Given the description of an element on the screen output the (x, y) to click on. 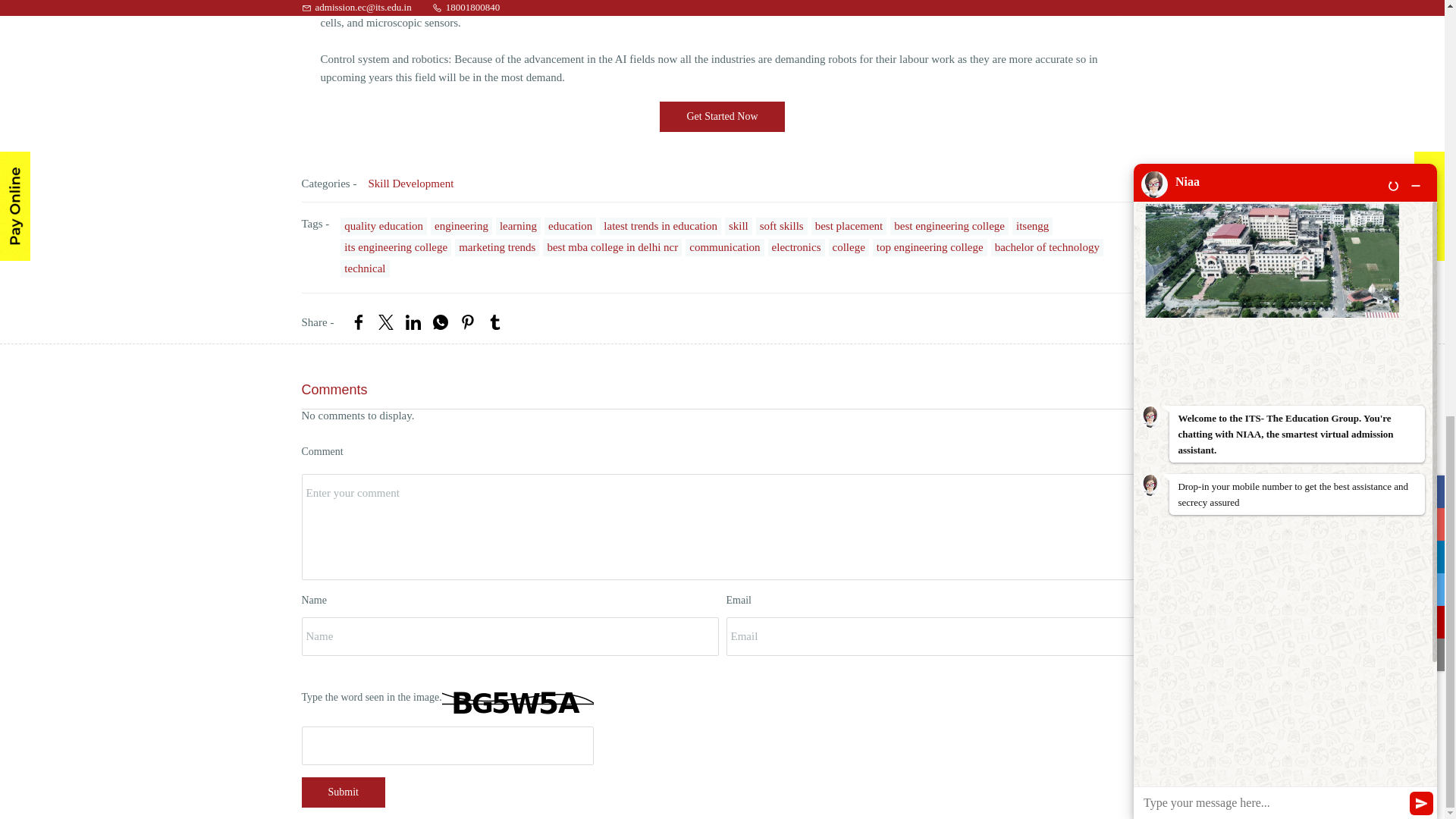
WhatsApp (440, 322)
Twitter (385, 322)
Facebook (358, 322)
LinkedIn (413, 322)
Tumblr (494, 322)
Pinterest (468, 322)
